Given the description of an element on the screen output the (x, y) to click on. 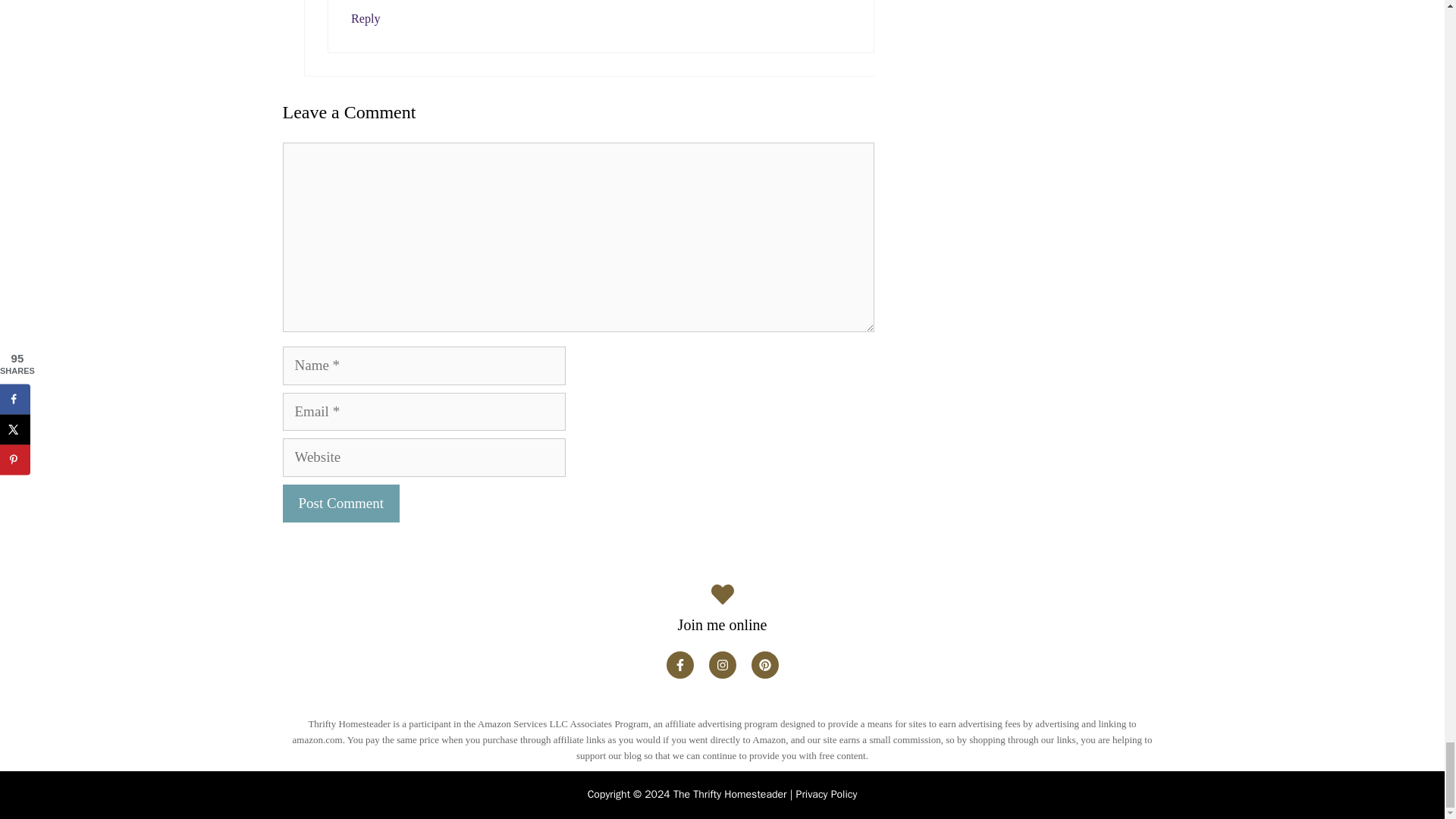
Post Comment (340, 503)
